Given the description of an element on the screen output the (x, y) to click on. 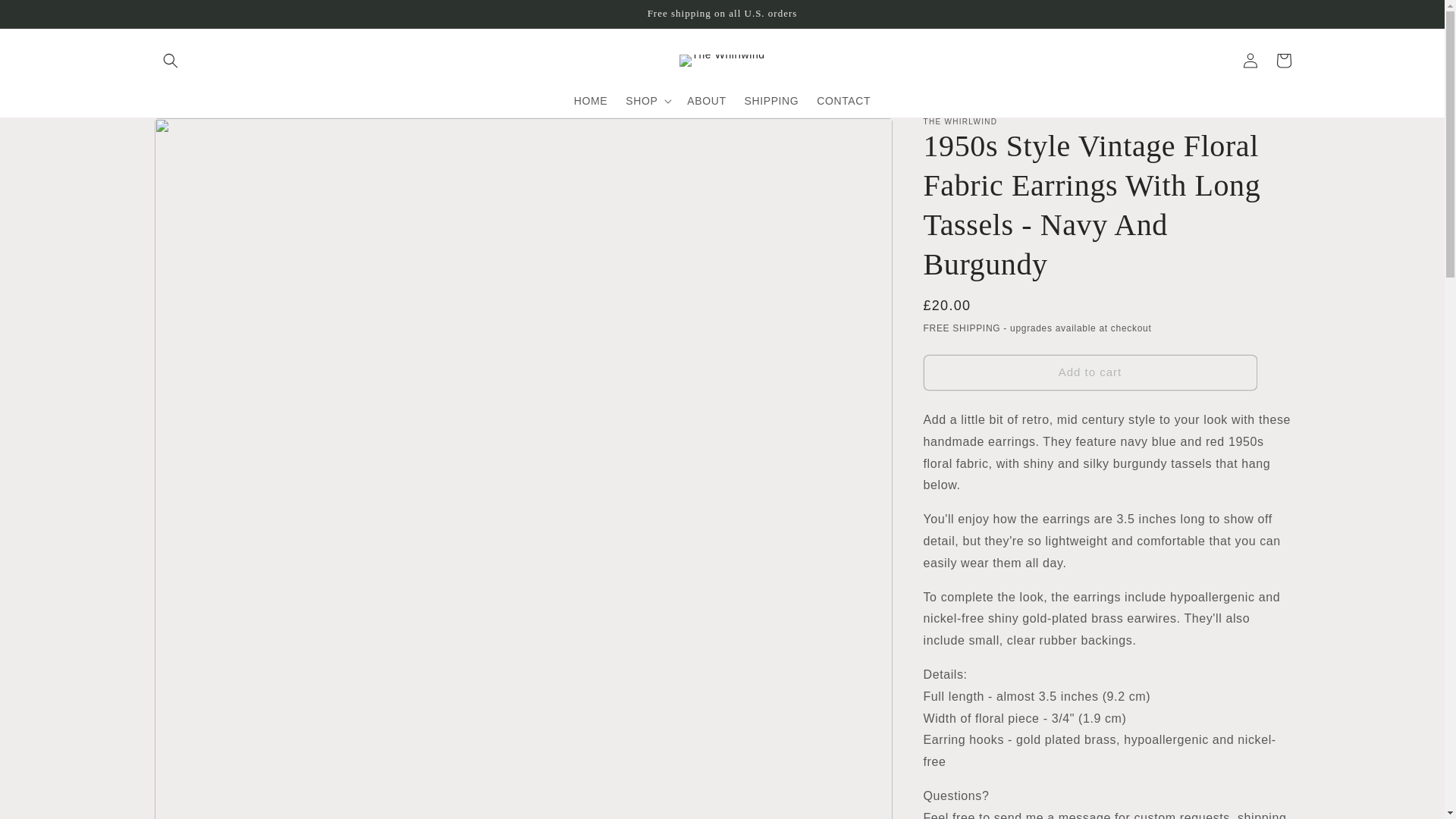
Skip to product information (199, 134)
Skip to content (45, 17)
CONTACT (843, 101)
Cart (1283, 60)
Log in (1249, 60)
HOME (589, 101)
SHIPPING (771, 101)
ABOUT (706, 101)
